Given the description of an element on the screen output the (x, y) to click on. 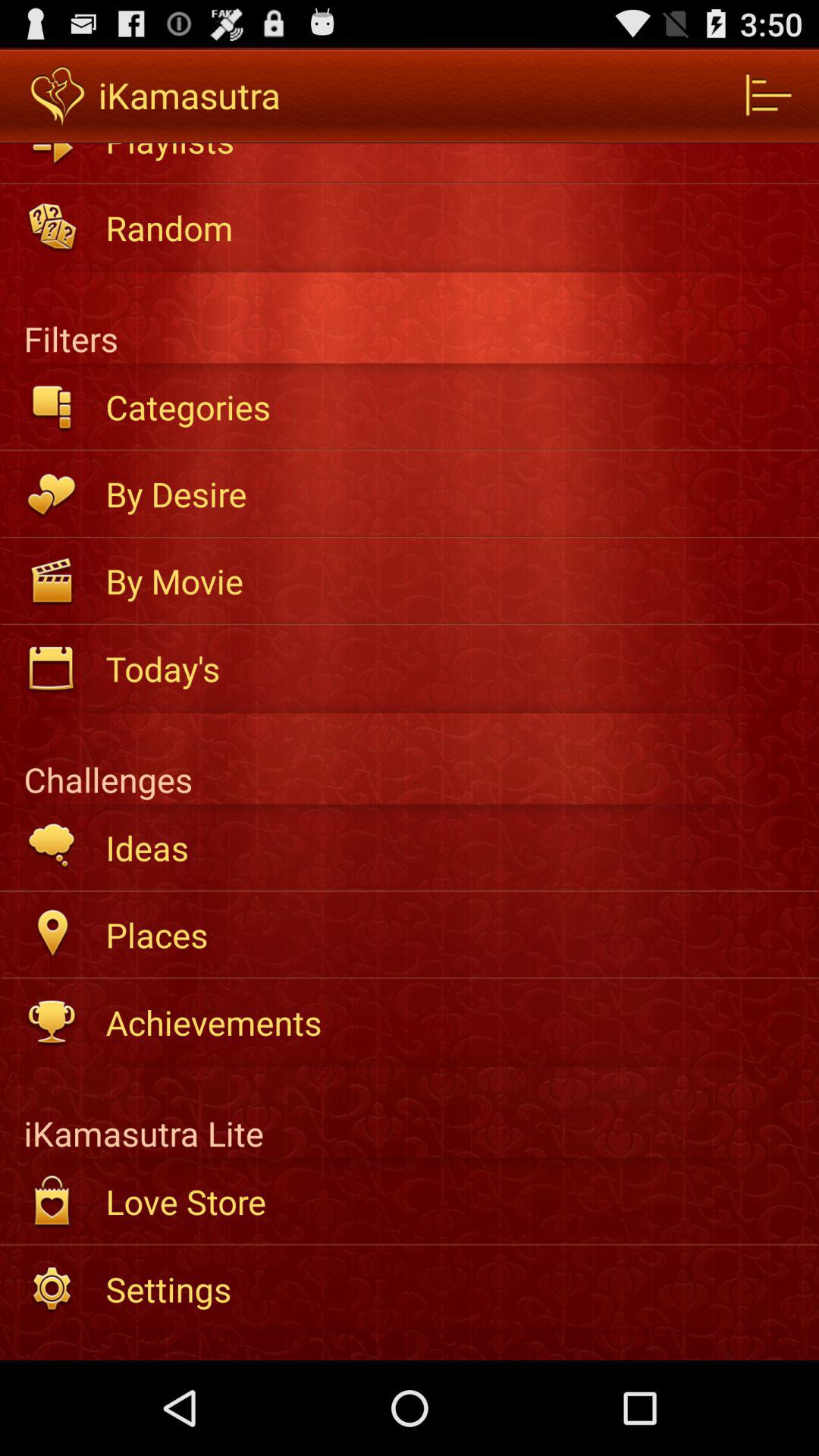
open the app below ikamasutra lite item (452, 1201)
